Given the description of an element on the screen output the (x, y) to click on. 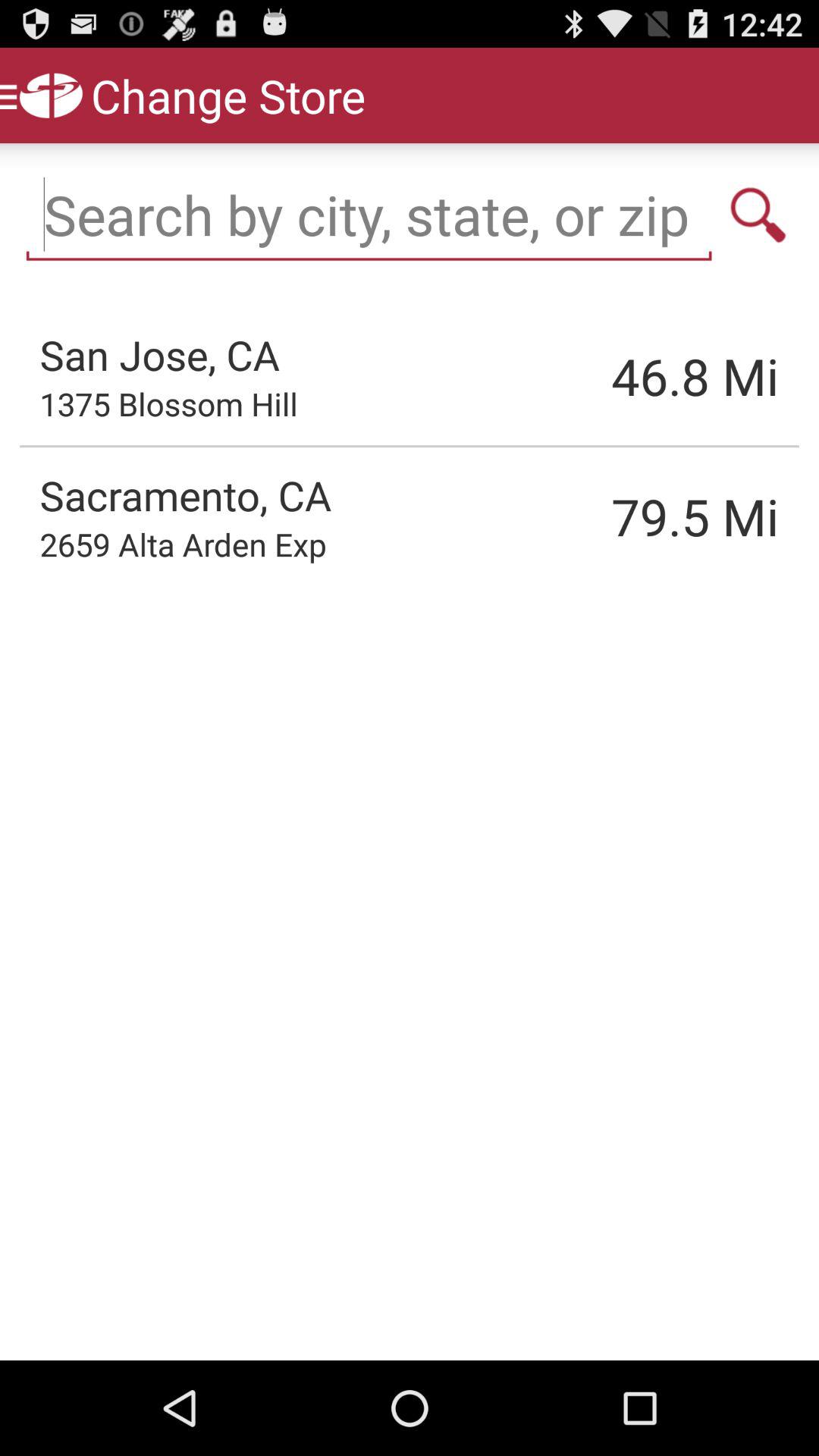
click the icon next to the 46.8 icon (168, 403)
